Given the description of an element on the screen output the (x, y) to click on. 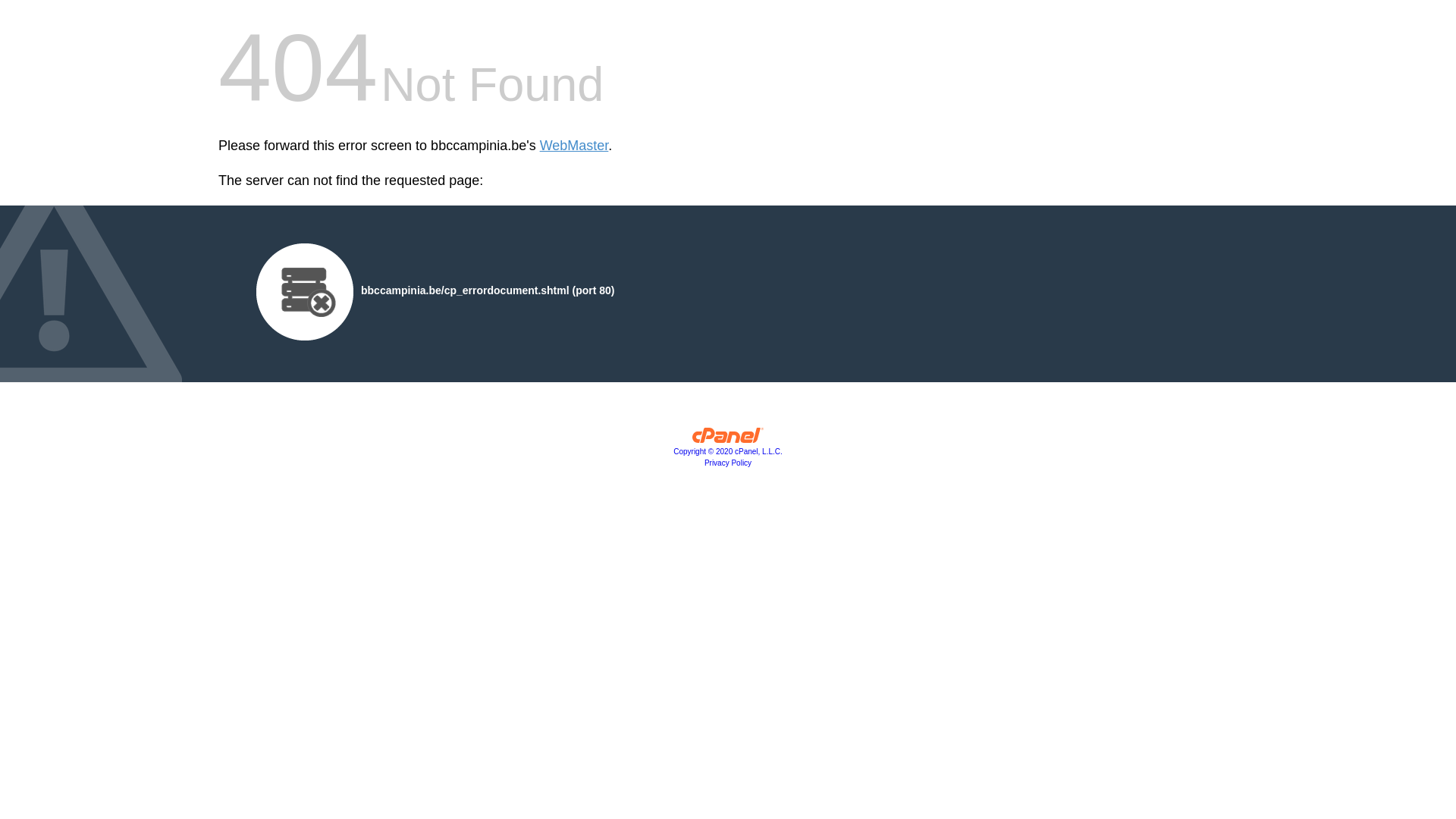
Privacy Policy Element type: text (727, 462)
WebMaster Element type: text (573, 145)
cPanel, Inc. Element type: hover (728, 439)
